Given the description of an element on the screen output the (x, y) to click on. 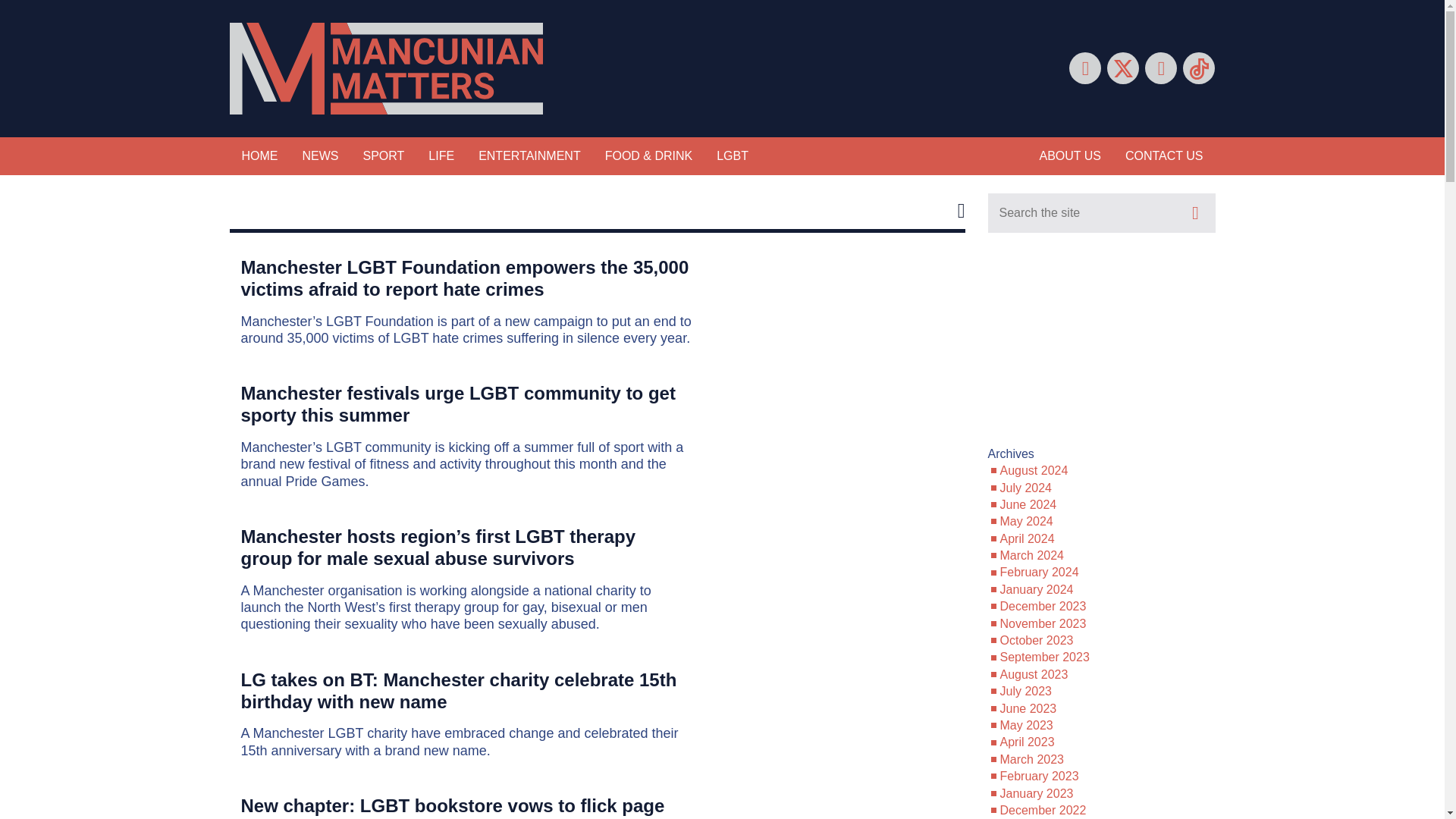
News (319, 156)
YouTube (1160, 68)
Facebook (1084, 68)
LGBT (732, 156)
NEWS (319, 156)
Sport (383, 156)
CONTACT US (1164, 156)
Tiktok (1198, 68)
HOME (258, 156)
Entertainment (528, 156)
